Given the description of an element on the screen output the (x, y) to click on. 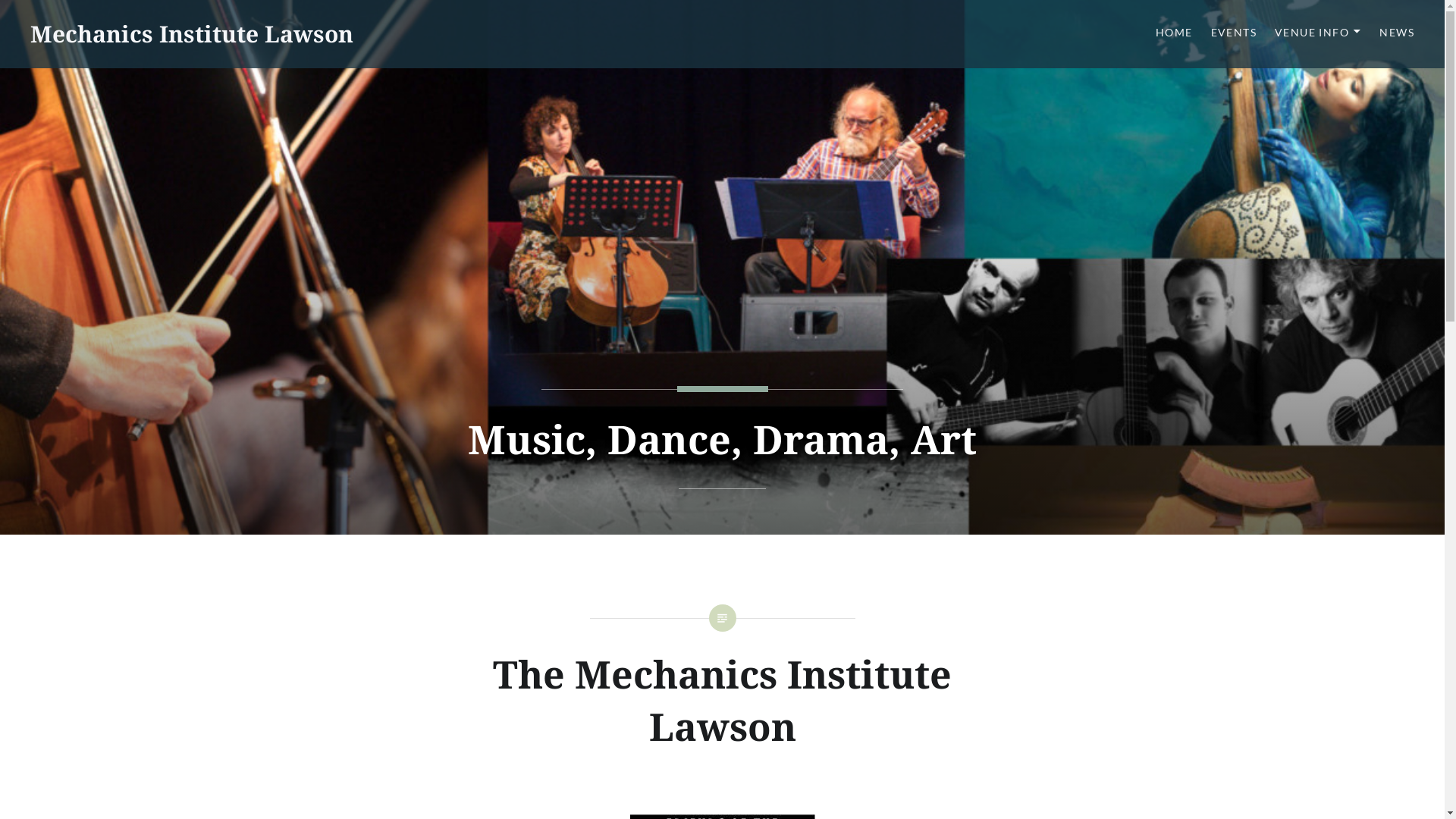
HOME Element type: text (1173, 32)
Search Element type: text (141, 19)
EVENTS Element type: text (1233, 32)
Mechanics Institute Lawson Element type: text (191, 33)
NEWS Element type: text (1396, 32)
VENUE INFO Element type: text (1317, 32)
